Given the description of an element on the screen output the (x, y) to click on. 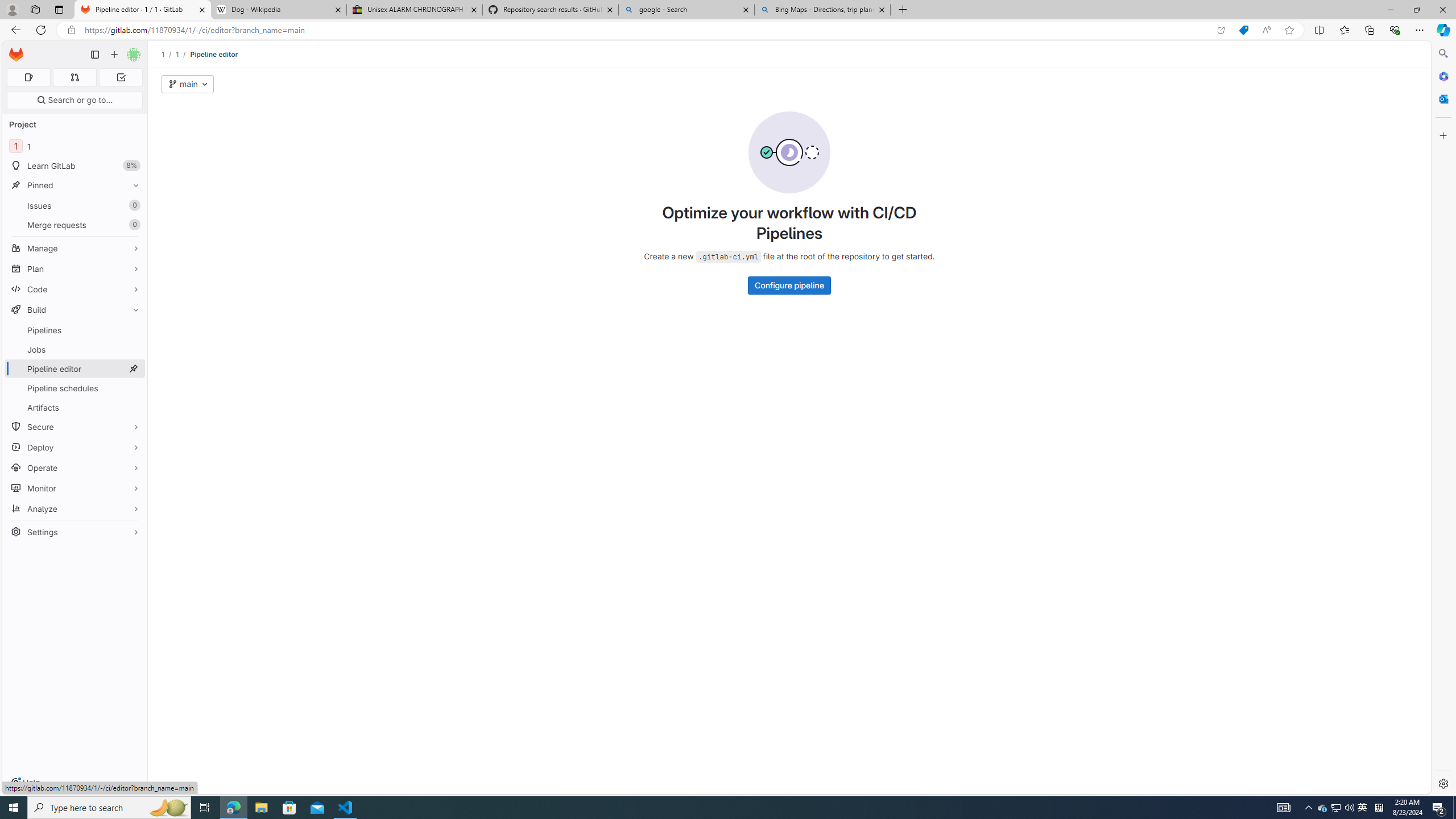
Plan (74, 268)
Pin Artifacts (132, 407)
Deploy (74, 447)
Pin Pipelines (132, 329)
Pipelines (74, 330)
Unpin Merge requests (132, 224)
Code (74, 289)
Merge requests 0 (74, 76)
1 (177, 53)
Help (25, 782)
Merge requests 0 (74, 224)
